Given the description of an element on the screen output the (x, y) to click on. 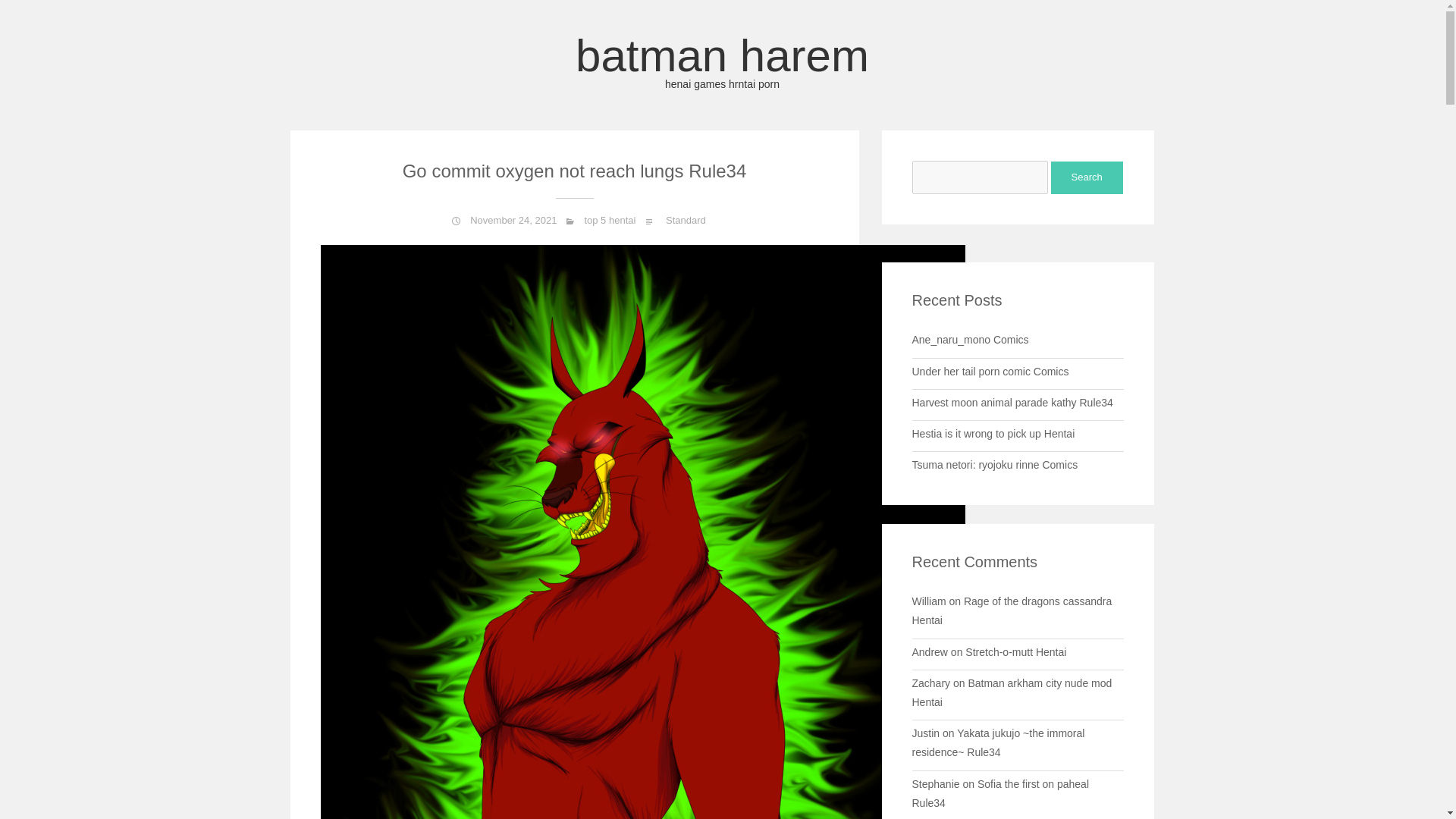
batman harem (721, 61)
top 5 hentai (608, 220)
Under her tail porn comic Comics (989, 371)
Harvest moon animal parade kathy Rule34 (1011, 402)
Batman arkham city nude mod Hentai (1011, 692)
Search (1086, 177)
Rage of the dragons cassandra Hentai (1011, 610)
Stretch-o-mutt Hentai (721, 61)
Hestia is it wrong to pick up Hentai (1015, 652)
Sofia the first on paheal Rule34 (992, 433)
Search (1000, 793)
Tsuma netori: ryojoku rinne Comics (1086, 177)
